Given the description of an element on the screen output the (x, y) to click on. 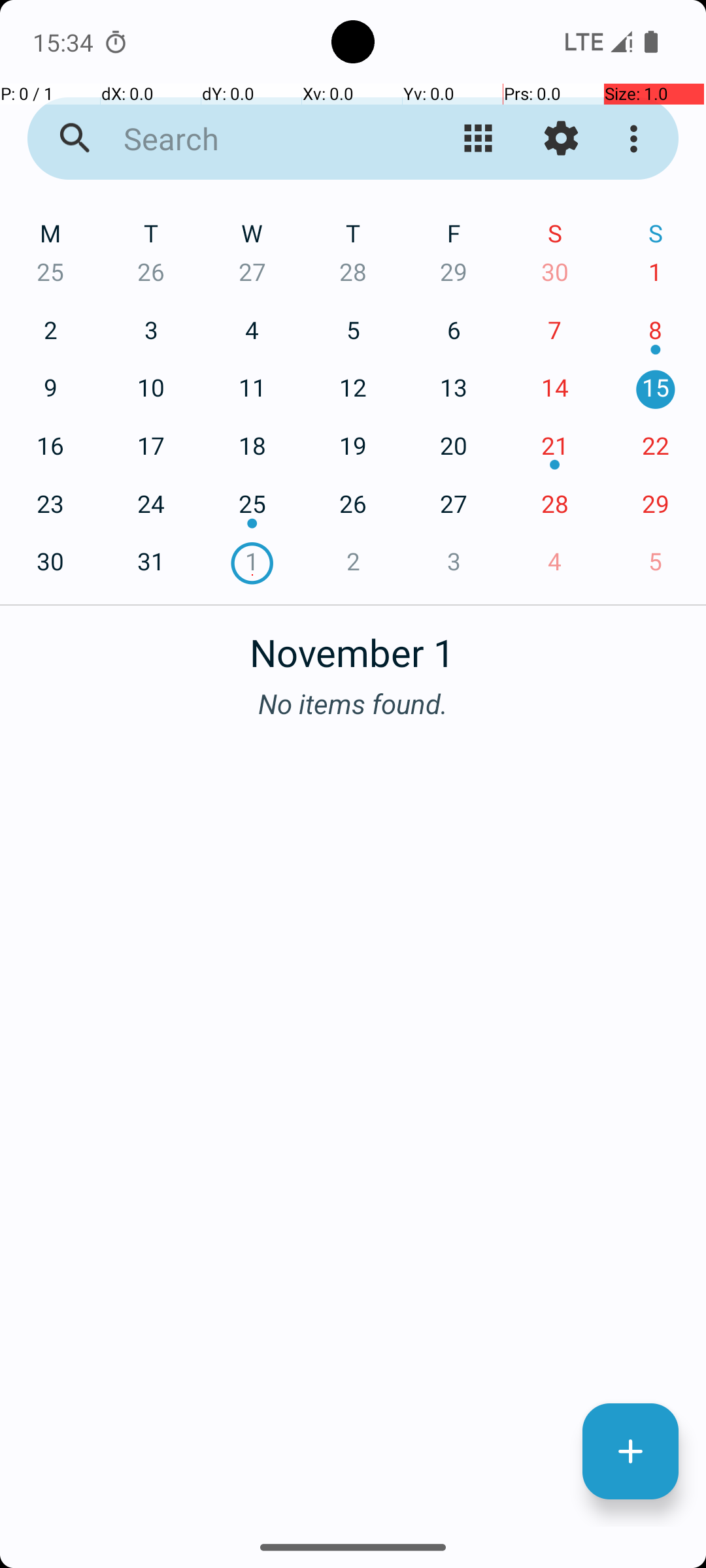
November 1 Element type: android.widget.TextView (352, 644)
